Given the description of an element on the screen output the (x, y) to click on. 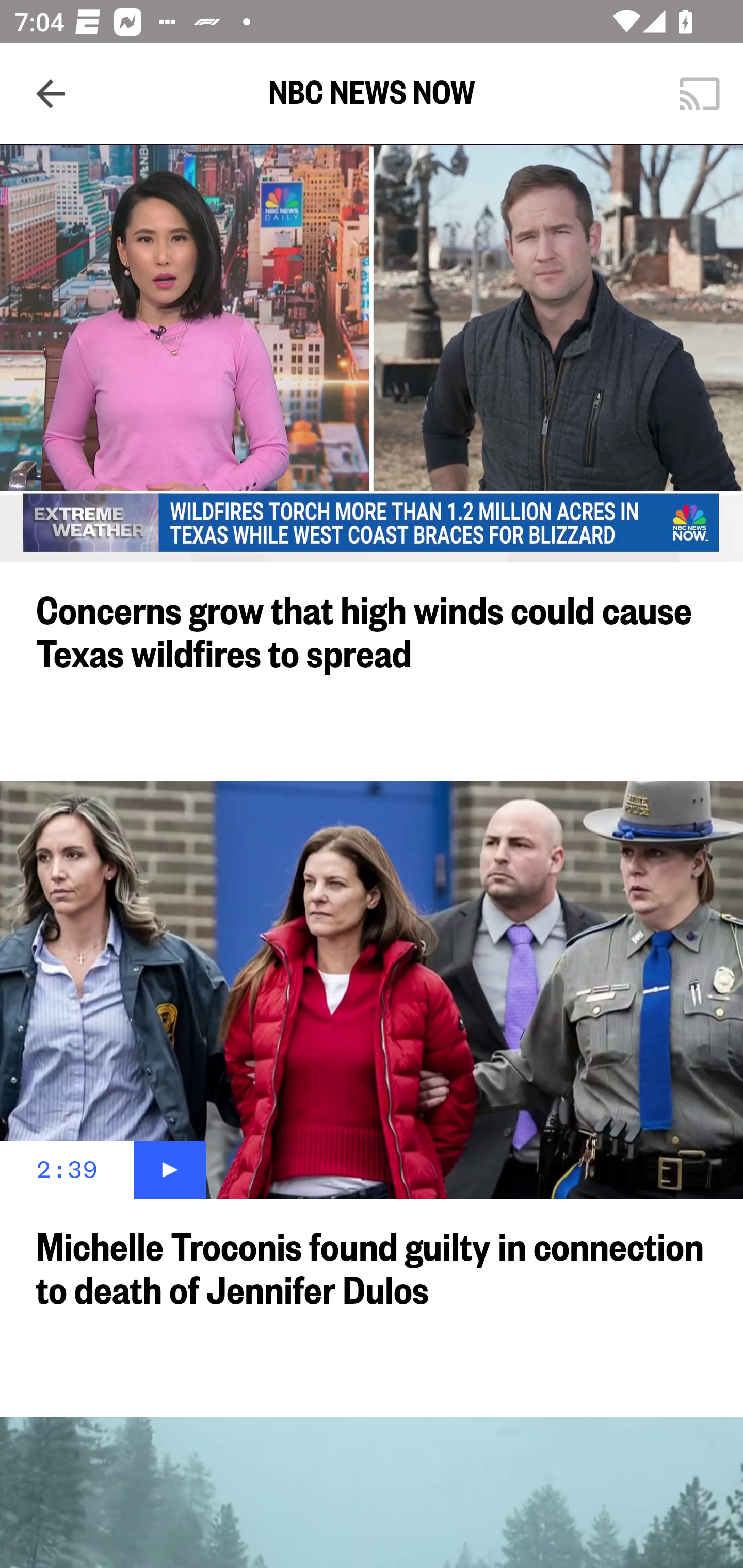
Navigate up (50, 93)
Cast. Disconnected (699, 93)
